Given the description of an element on the screen output the (x, y) to click on. 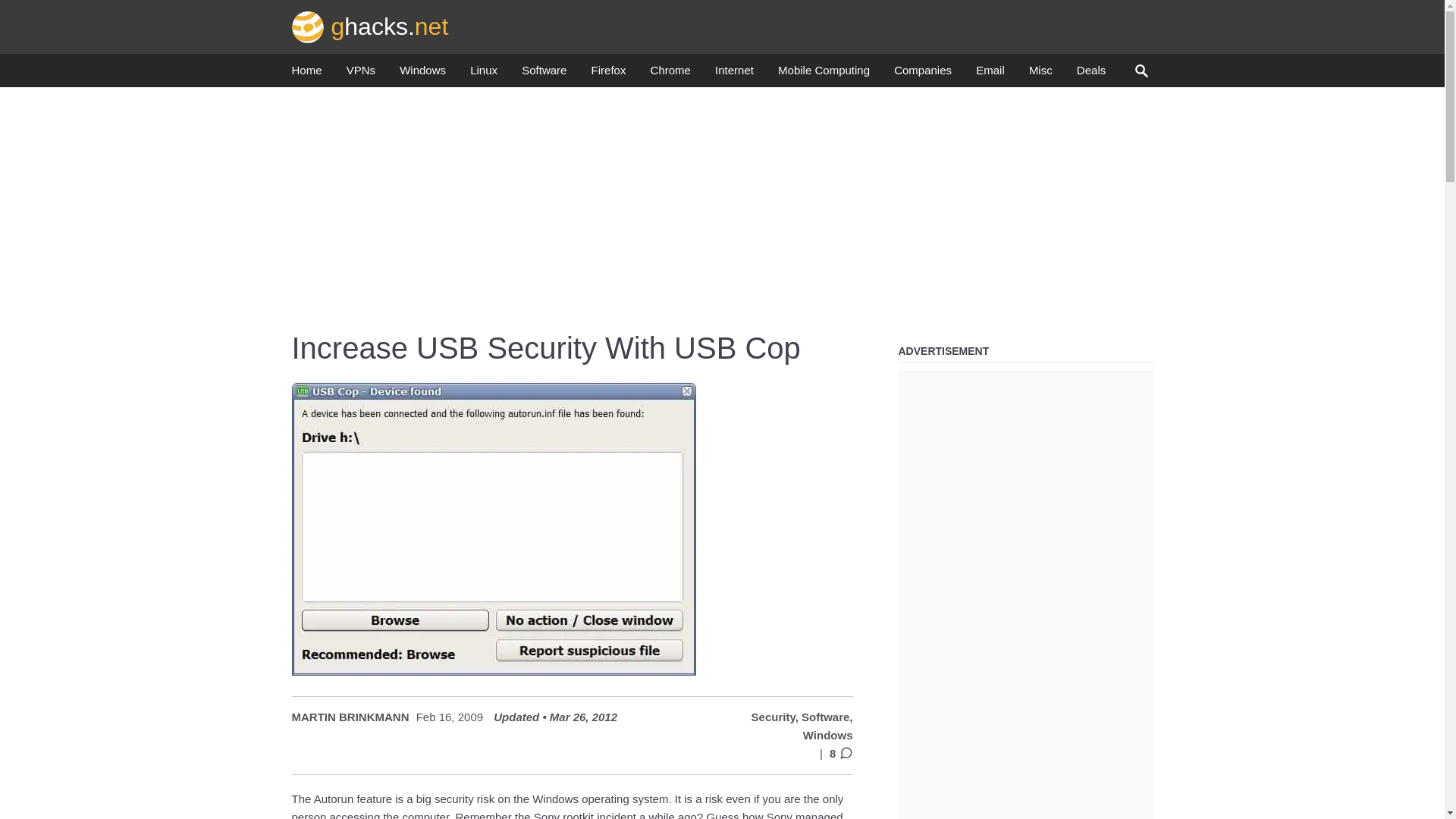
Software (543, 73)
ghacks.net (369, 26)
Companies (922, 73)
Mobile Computing (823, 73)
Email (989, 73)
Internet (734, 73)
Home (306, 73)
Windows (421, 73)
Firefox (608, 73)
VPNs (360, 73)
Misc (1040, 73)
Chrome (670, 73)
Deals (1091, 73)
Linux (483, 73)
